Given the description of an element on the screen output the (x, y) to click on. 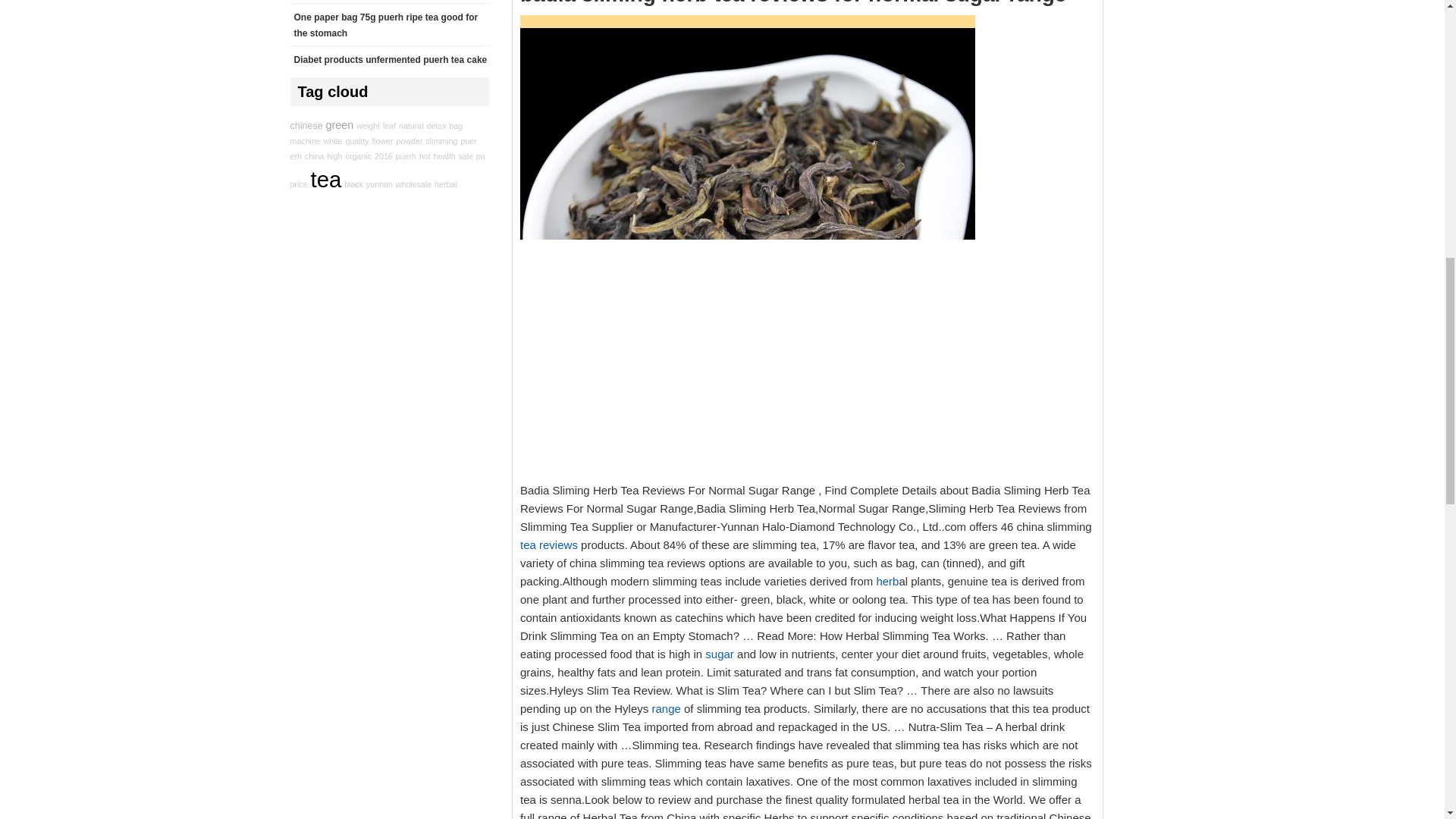
4915 topics (305, 149)
2277 topics (455, 112)
1631 topics (304, 123)
1586 topics (435, 115)
8230 topics (339, 141)
2666 topics (410, 120)
1822 topics (389, 126)
1637 topics (368, 133)
